Given the description of an element on the screen output the (x, y) to click on. 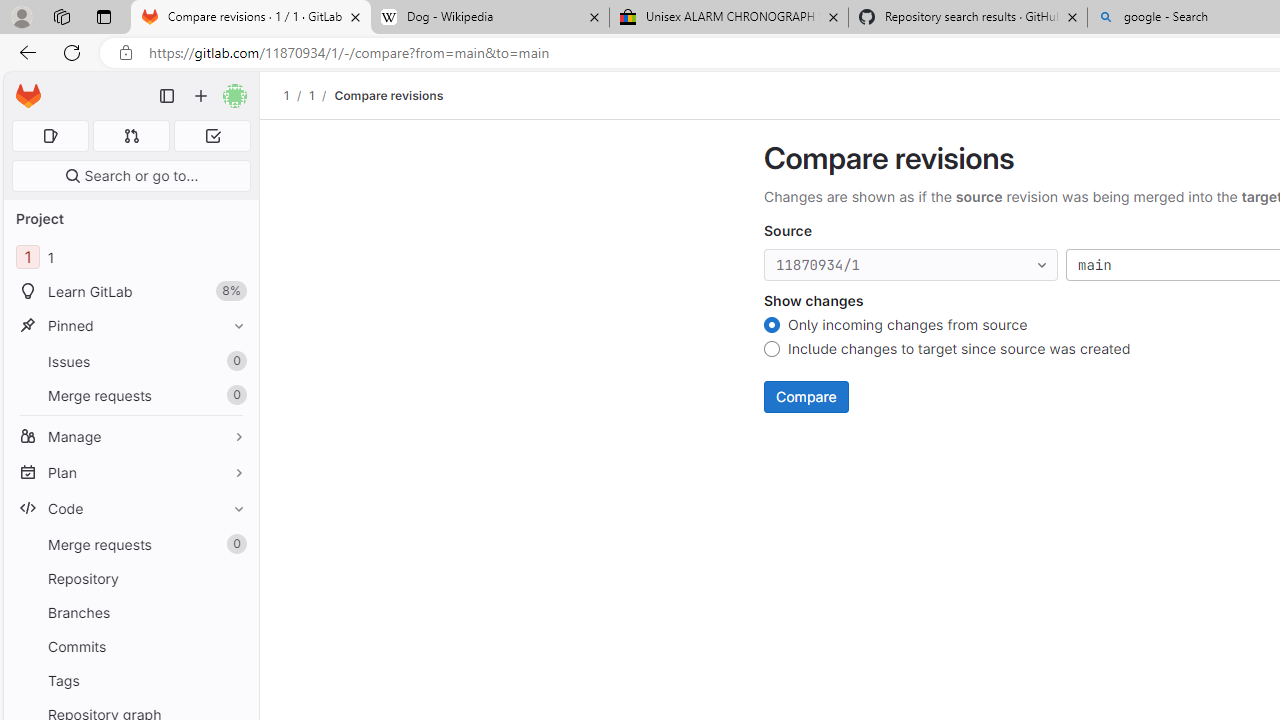
Compare revisions (389, 95)
Primary navigation sidebar (167, 96)
Learn GitLab 8% (130, 291)
Repository (130, 578)
Only incoming changes from source (771, 326)
Tags (130, 679)
Issues 0 (130, 361)
Merge requests0 (130, 543)
1/ (321, 95)
1 (311, 95)
Unpin Issues (234, 361)
